Given the description of an element on the screen output the (x, y) to click on. 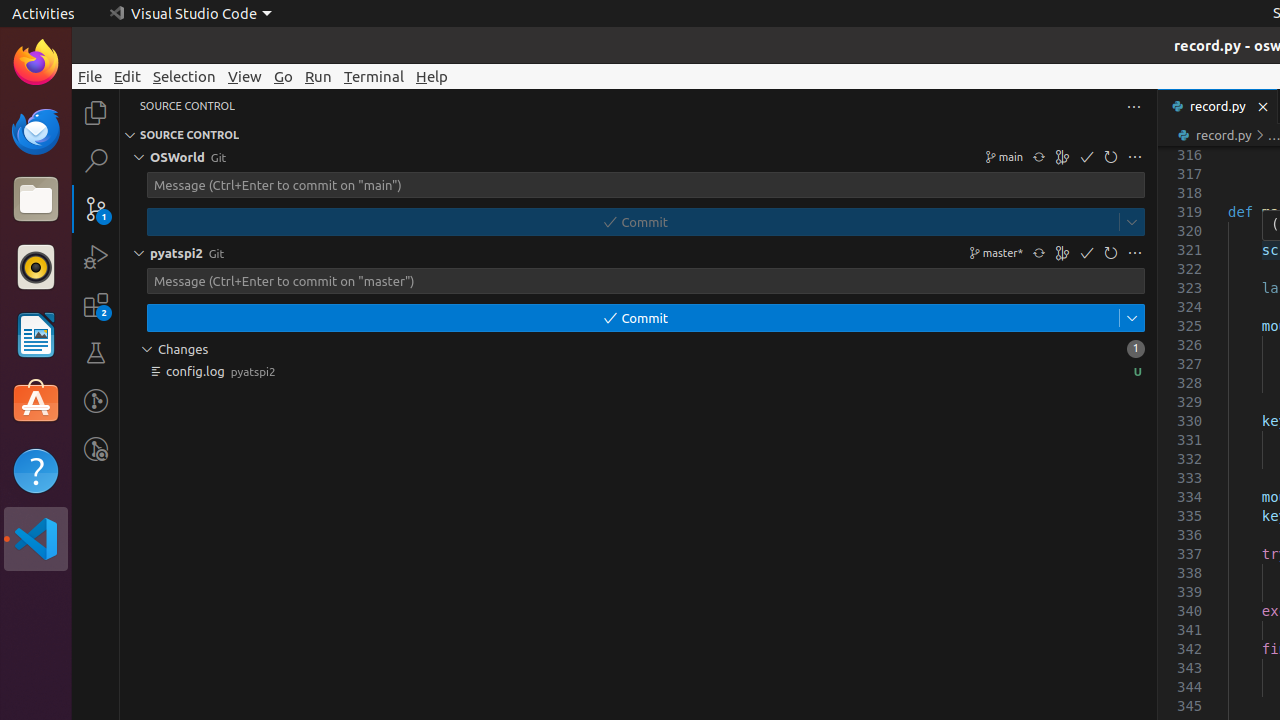
 Element type: push-button (1132, 318)
master*, Checkout Branch/Tag... Element type: push-button (994, 253)
Show Commit Graph Element type: push-button (1063, 253)
